Given the description of an element on the screen output the (x, y) to click on. 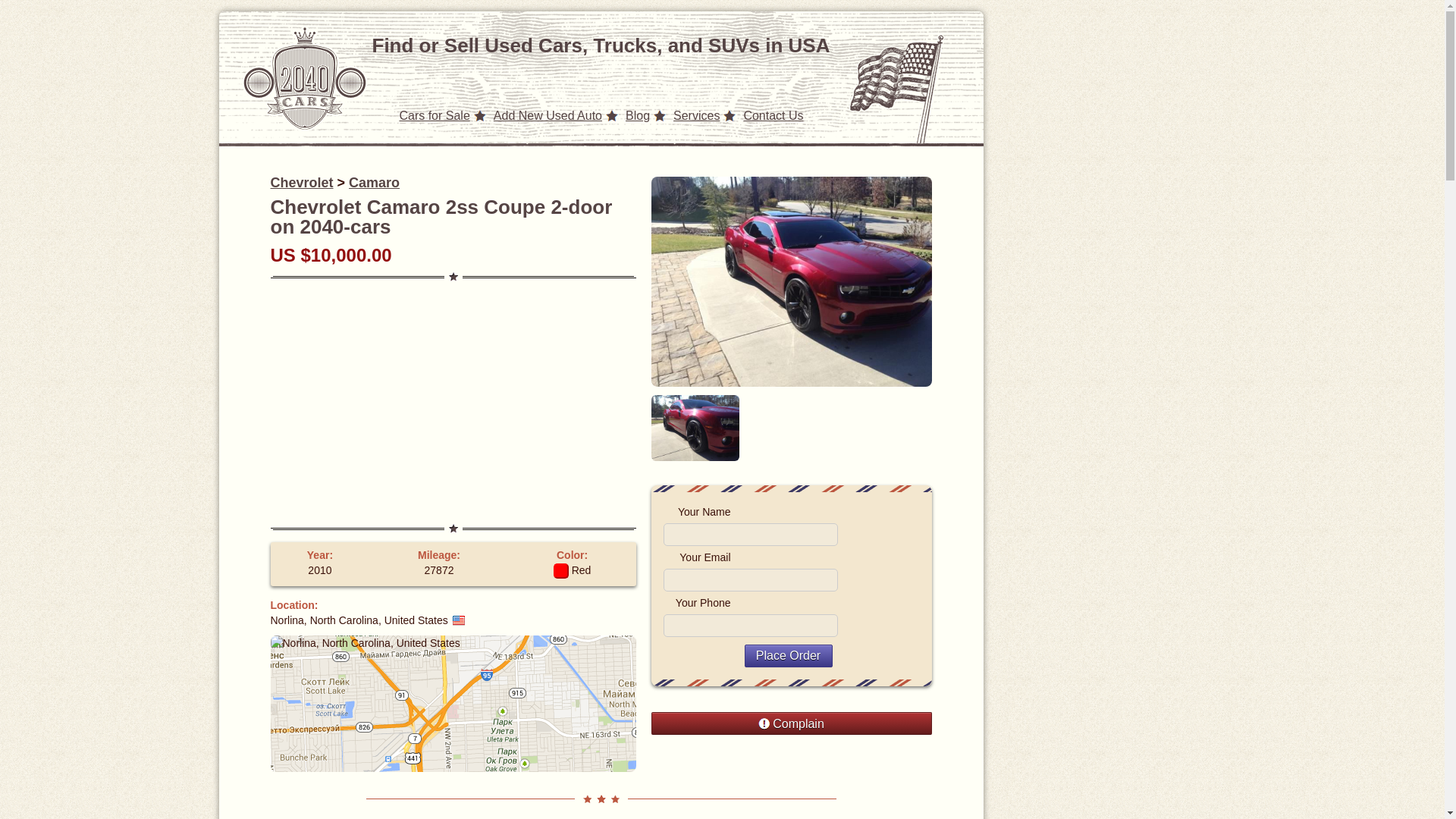
Camaro (373, 182)
Exterior Color (572, 570)
Contact Us (772, 115)
Blog (637, 115)
Add New Used Auto (547, 115)
Chevrolet (301, 182)
Services (695, 115)
Cars for Sale (433, 115)
Place Order (788, 655)
Complain (790, 722)
